Given the description of an element on the screen output the (x, y) to click on. 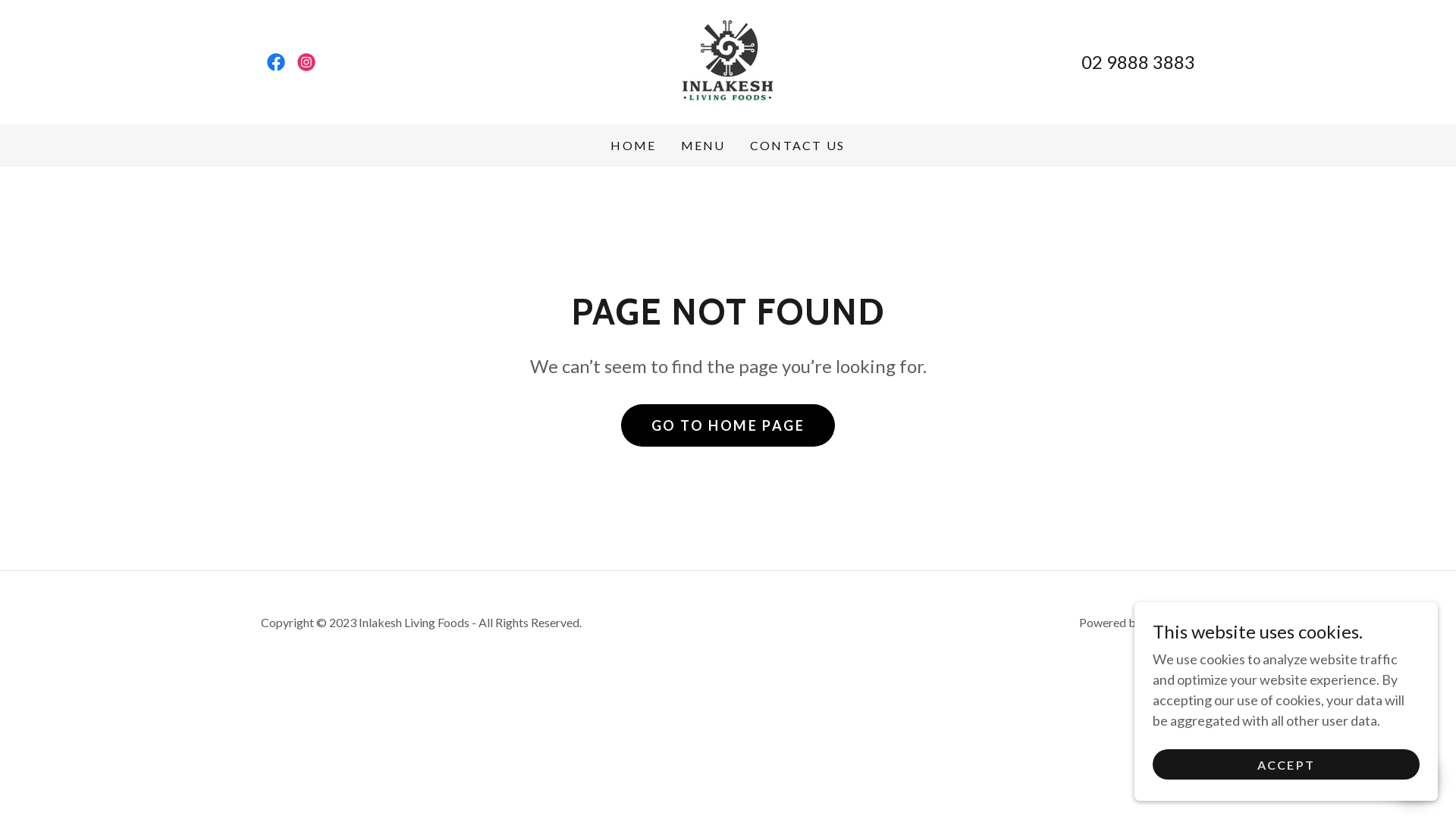
Inlakesh Living Foods   Element type: hover (727, 60)
GO TO HOME PAGE Element type: text (728, 425)
CONTACT US Element type: text (797, 145)
GoDaddy Element type: text (1169, 622)
02 9888 3883 Element type: text (1138, 61)
ACCEPT Element type: text (1285, 764)
MENU Element type: text (703, 145)
HOME Element type: text (632, 145)
